Given the description of an element on the screen output the (x, y) to click on. 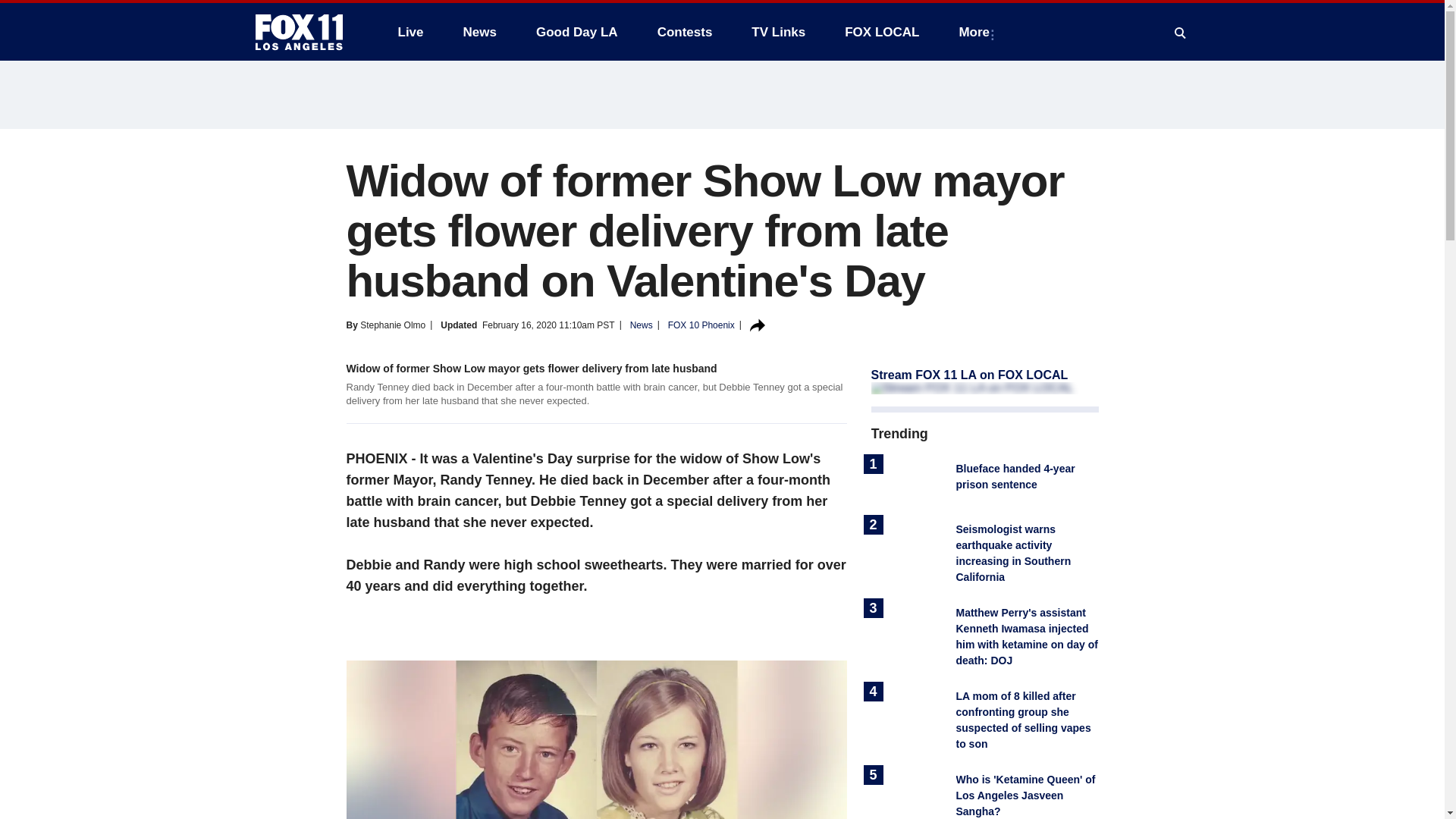
More (976, 32)
FOX LOCAL (881, 32)
Contests (685, 32)
News (479, 32)
Good Day LA (577, 32)
TV Links (777, 32)
Live (410, 32)
